Given the description of an element on the screen output the (x, y) to click on. 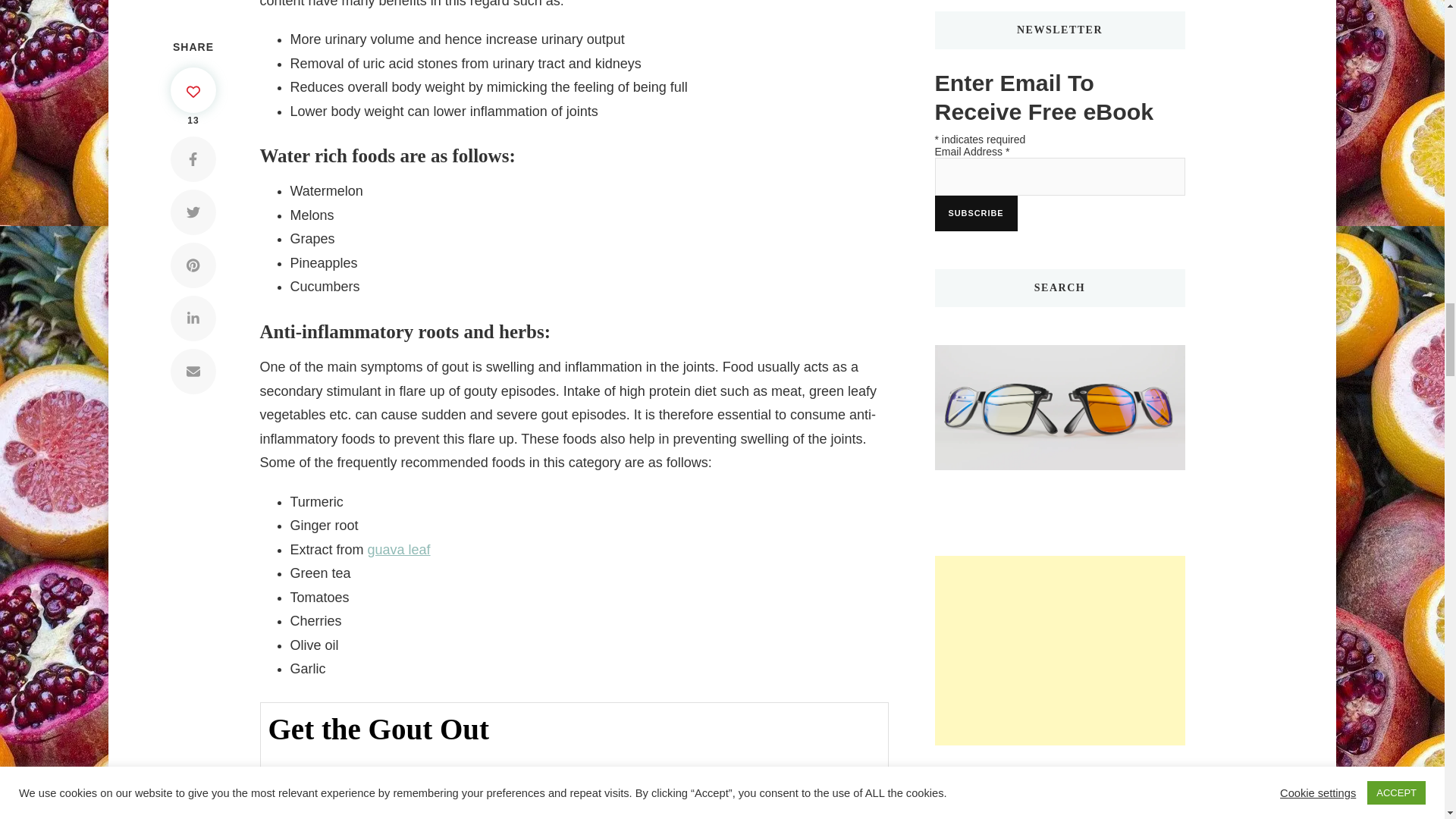
guava leaf (399, 549)
Subscribe (975, 212)
